Given the description of an element on the screen output the (x, y) to click on. 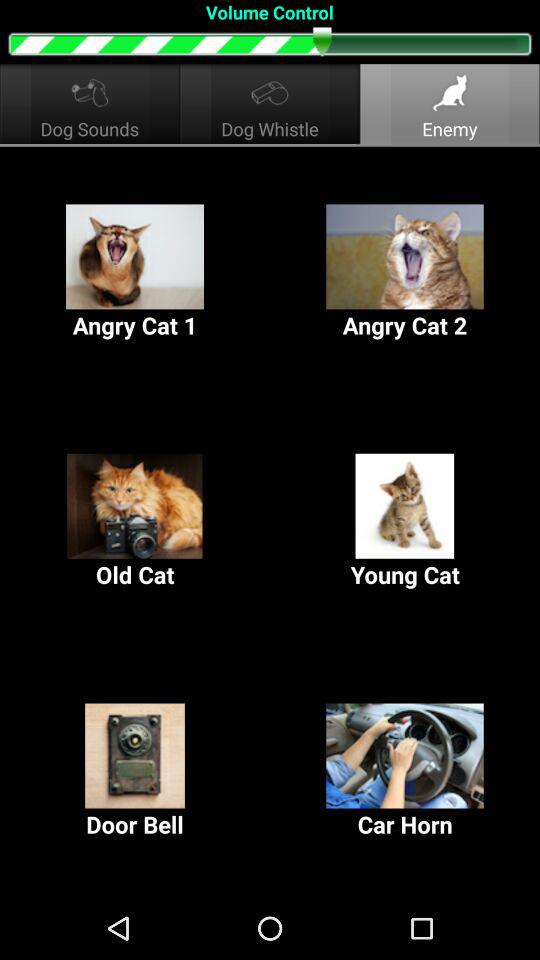
select icon next to car horn (135, 771)
